Given the description of an element on the screen output the (x, y) to click on. 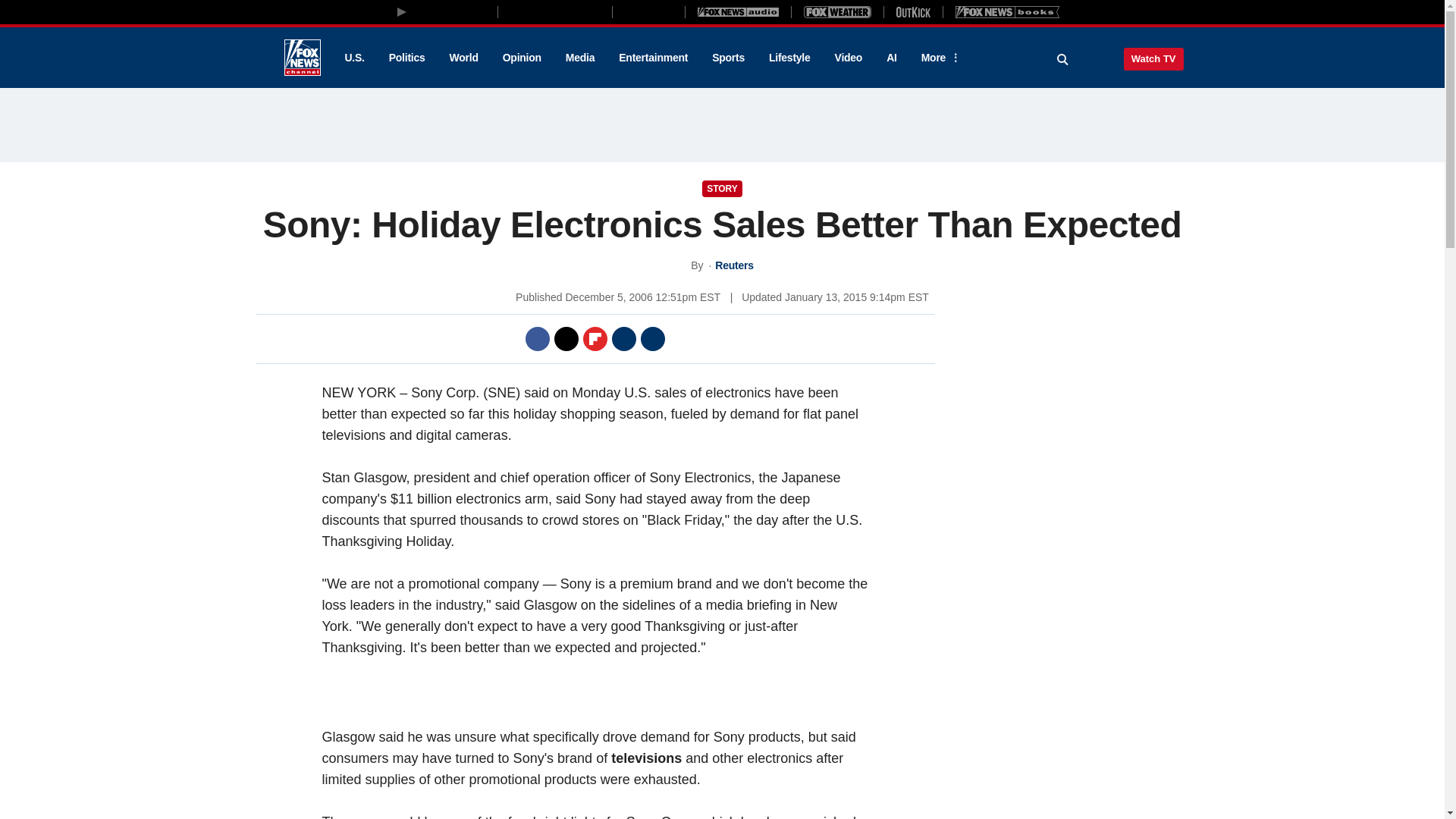
Fox News Audio (737, 11)
Fox Business (554, 11)
Fox Nation (648, 11)
Watch TV (1153, 58)
Opinion (521, 57)
Sports (728, 57)
More (938, 57)
Lifestyle (789, 57)
Video (848, 57)
Fox News (301, 57)
Fox Weather (836, 11)
Media (580, 57)
Books (1007, 11)
U.S. (353, 57)
World (464, 57)
